Given the description of an element on the screen output the (x, y) to click on. 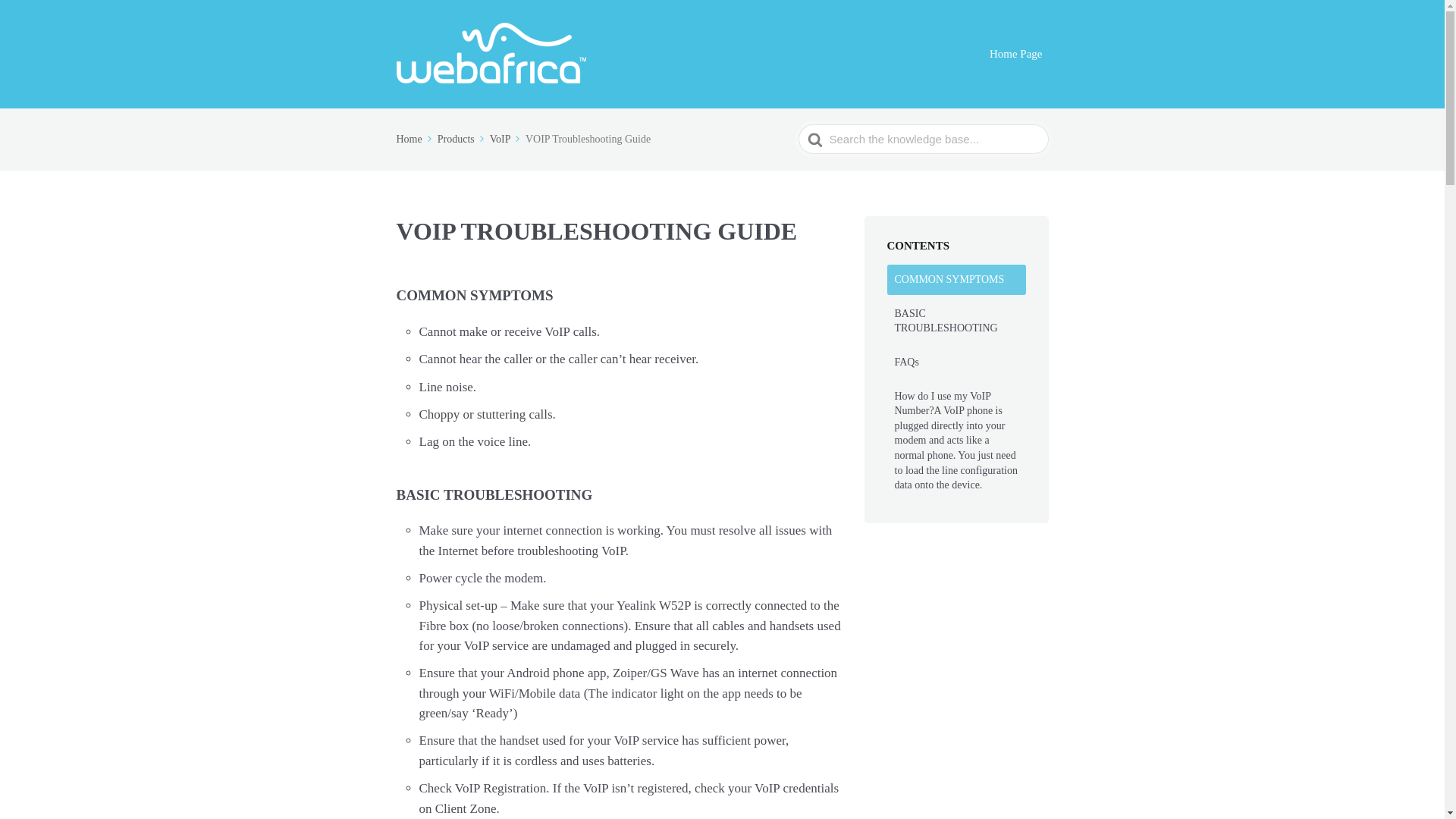
Products (462, 138)
Home (414, 138)
VoIP (505, 138)
BASIC TROUBLESHOOTING (956, 320)
COMMON SYMPTOMS (956, 279)
FAQs (956, 362)
Home Page (1016, 54)
